Given the description of an element on the screen output the (x, y) to click on. 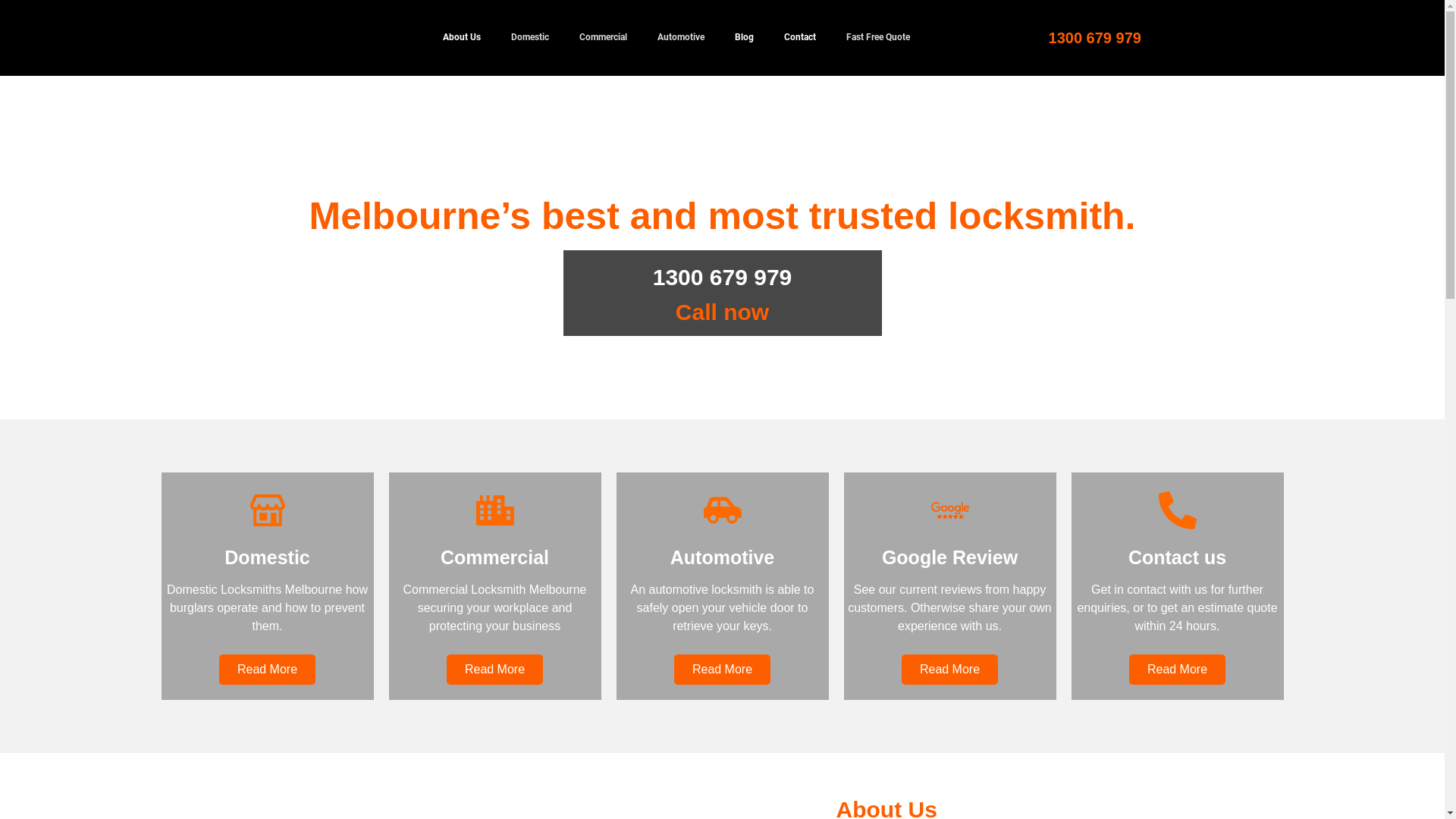
Read More Element type: text (494, 669)
Read More Element type: text (949, 669)
Domestic Element type: text (529, 37)
Read More Element type: text (267, 669)
Commercial Element type: text (603, 37)
About Us Element type: text (461, 37)
Read More Element type: text (1177, 669)
Fast Free Quote Element type: text (878, 37)
Automotive Element type: text (679, 37)
Read More Element type: text (722, 669)
Contact Element type: text (799, 37)
Blog Element type: text (743, 37)
1300 679 979 Element type: text (1094, 37)
